Given the description of an element on the screen output the (x, y) to click on. 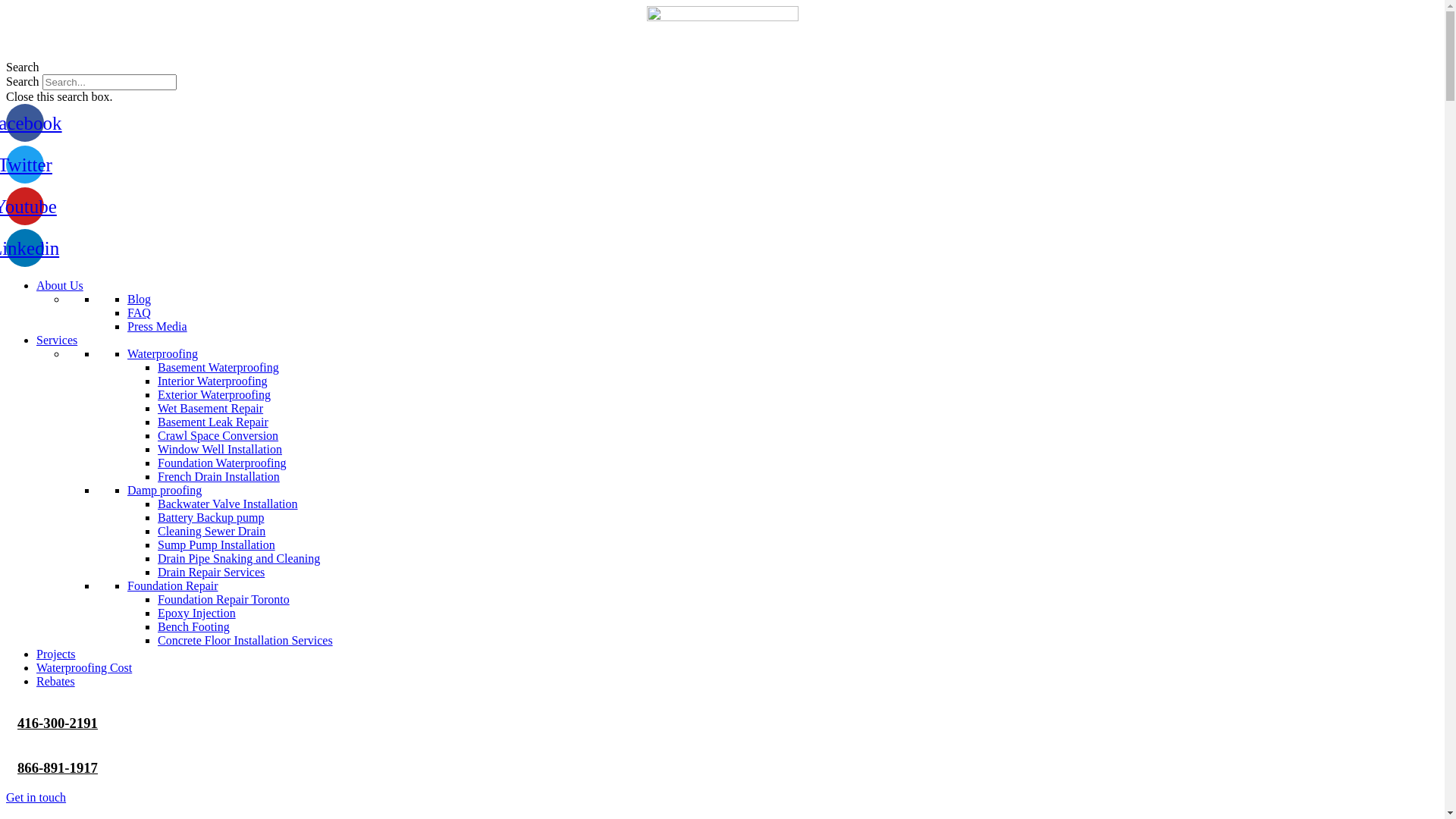
Press Media Element type: text (157, 326)
Drain Pipe Snaking and Cleaning Element type: text (238, 558)
Wet Basement Repair Element type: text (210, 407)
Interior Waterproofing Element type: text (212, 380)
Exterior Waterproofing Element type: text (213, 394)
Cleaning Sewer Drain Element type: text (211, 530)
Battery Backup pump Element type: text (210, 517)
Foundation Waterproofing Element type: text (221, 462)
Facebook Element type: text (24, 122)
Rebates Element type: text (55, 680)
Foundation Repair Toronto Element type: text (223, 599)
Foundation Repair Element type: text (172, 585)
Basement Waterproofing Element type: text (218, 366)
Projects Element type: text (55, 653)
Waterproofing Element type: text (162, 353)
Crawl Space Conversion Element type: text (217, 435)
Youtube Element type: text (24, 206)
Linkedin Element type: text (24, 247)
Bench Footing Element type: text (193, 626)
Sump Pump Installation Element type: text (216, 544)
Damp proofing Element type: text (164, 489)
Get in touch Element type: text (35, 796)
FAQ Element type: text (138, 312)
About Us Element type: text (59, 285)
Epoxy Injection Element type: text (196, 612)
Concrete Floor Installation Services Element type: text (244, 639)
Basement Leak Repair Element type: text (212, 421)
Window Well Installation Element type: text (219, 448)
Backwater Valve Installation Element type: text (227, 503)
416-300-2191 Element type: text (57, 723)
French Drain Installation Element type: text (218, 476)
Waterproofing Cost Element type: text (83, 667)
Skip to content Element type: text (5, 5)
Services Element type: text (56, 339)
Twitter Element type: text (24, 164)
866-891-1917 Element type: text (57, 767)
Drain Repair Services Element type: text (210, 571)
Blog Element type: text (138, 298)
